Given the description of an element on the screen output the (x, y) to click on. 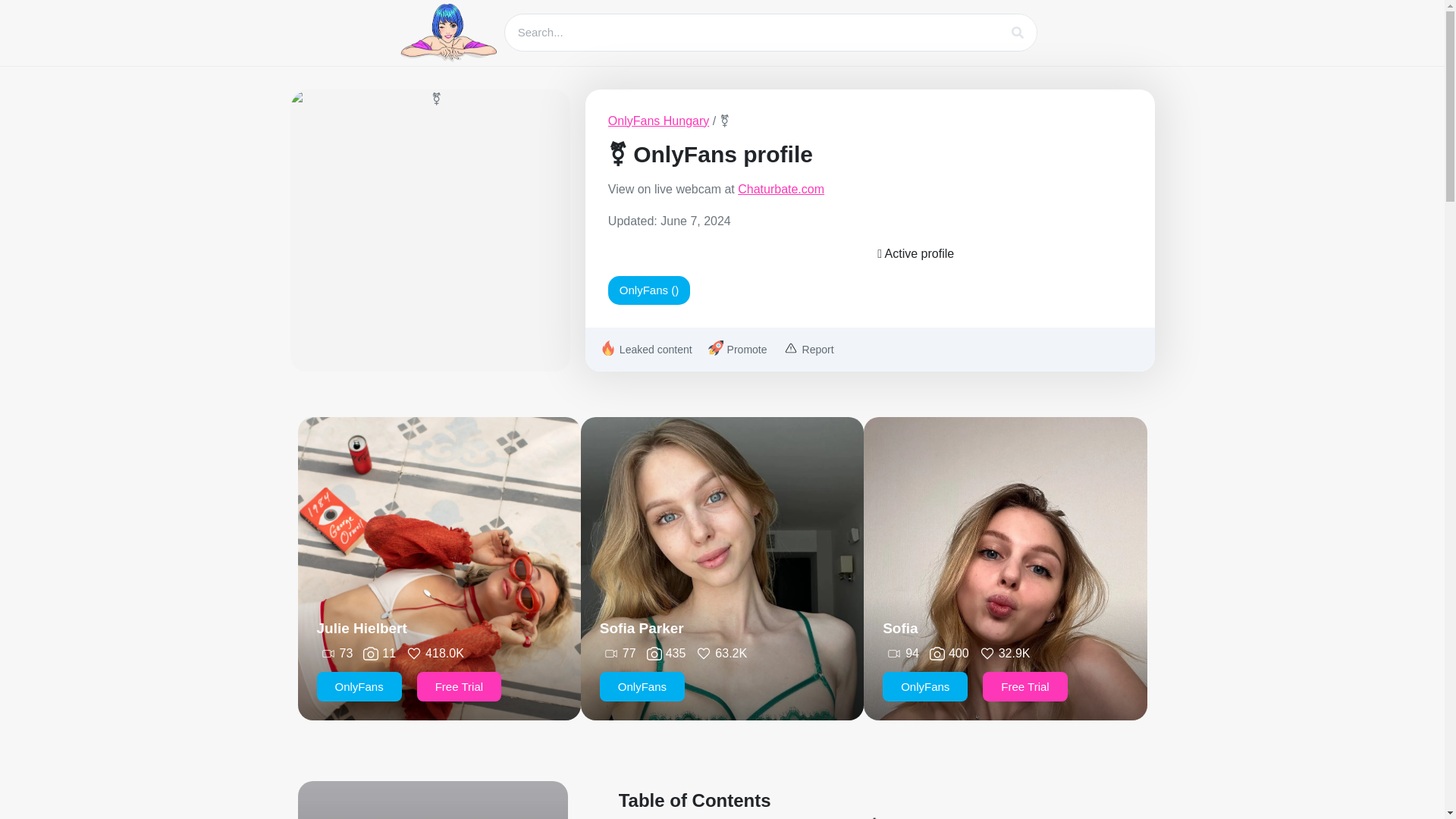
OnlyFans Hungary (658, 120)
Free Trial (1024, 686)
Report (806, 349)
Leaked content (644, 349)
OnlyFans (359, 686)
Chaturbate.com (781, 188)
OnlyFans Hungary (658, 120)
Julie Hielbert (362, 627)
OnlyFans (925, 686)
Promote (735, 349)
Sofia (899, 627)
Free Trial (458, 686)
OnlyFans (641, 686)
Sofia Parker (641, 627)
